Given the description of an element on the screen output the (x, y) to click on. 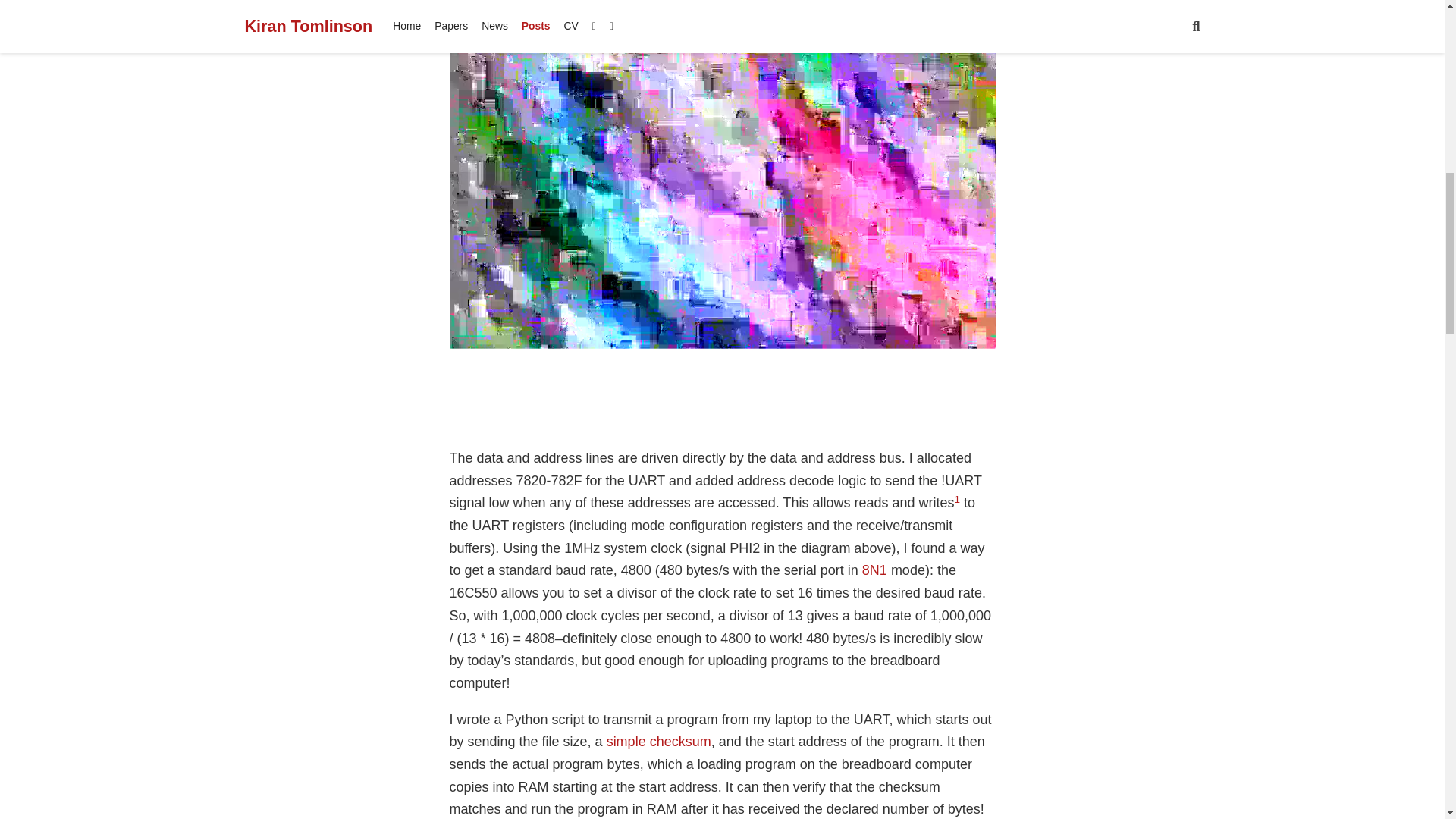
simple checksum (659, 741)
8N1 (873, 570)
